Given the description of an element on the screen output the (x, y) to click on. 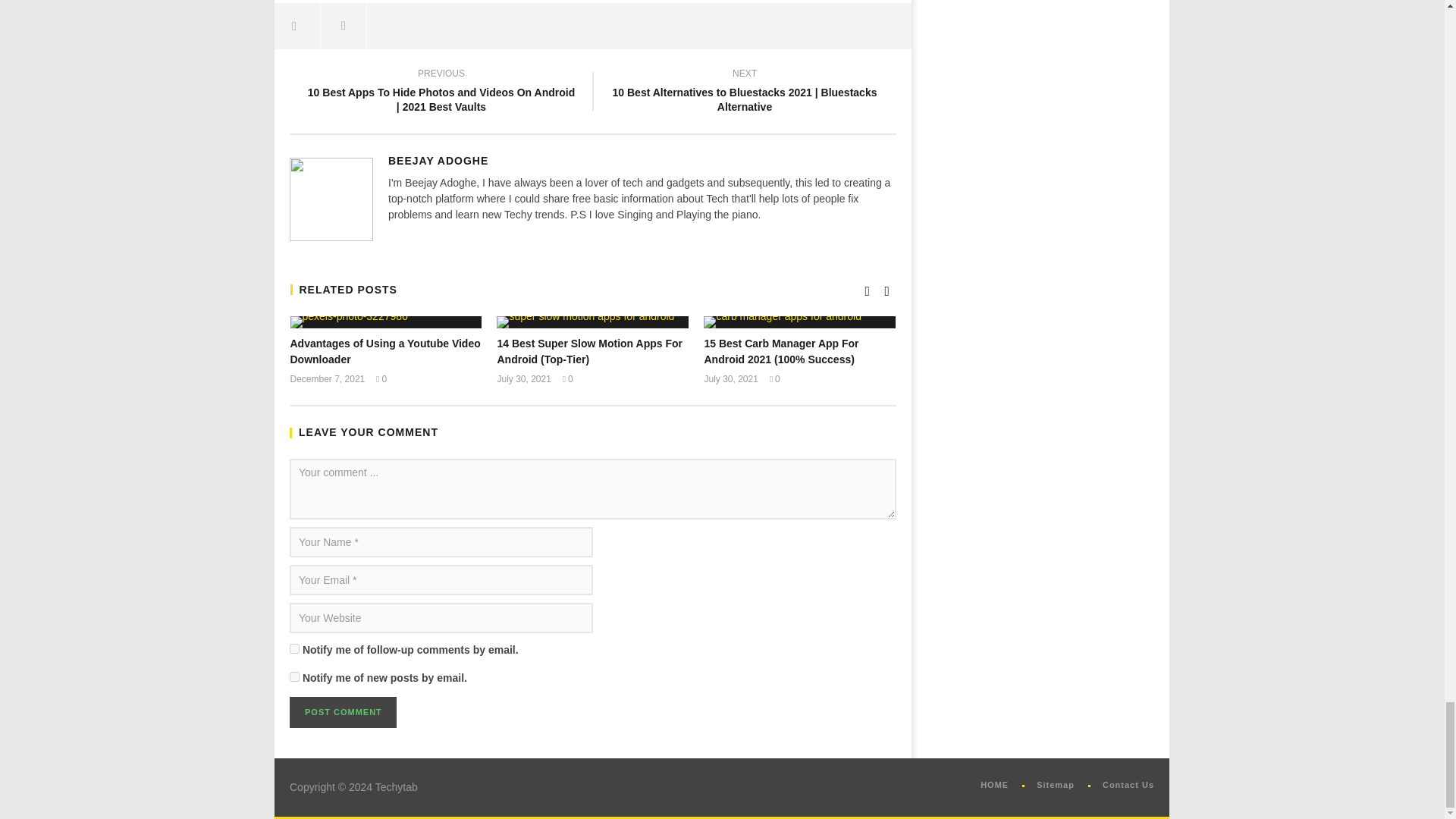
subscribe (294, 676)
Post Comment (342, 712)
subscribe (294, 648)
